Given the description of an element on the screen output the (x, y) to click on. 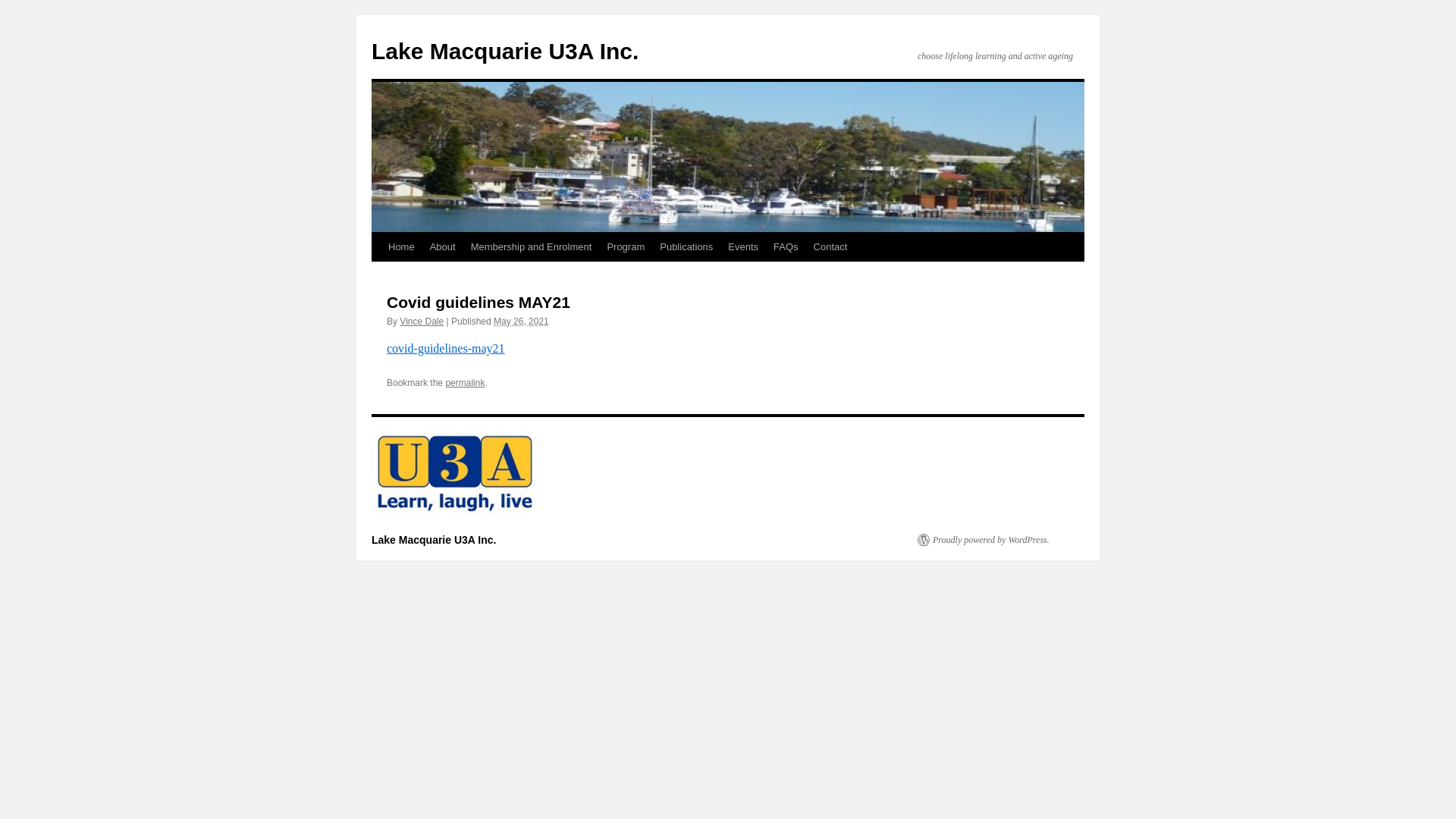
permalink Element type: text (464, 382)
Lake Macquarie U3A Inc. Element type: text (504, 50)
Program Element type: text (625, 246)
Skip to content Element type: text (377, 275)
Lake Macquarie U3A Inc. Element type: text (433, 539)
FAQs Element type: text (785, 246)
Home Element type: text (401, 246)
About Element type: text (442, 246)
Contact Element type: text (830, 246)
Events Element type: text (742, 246)
covid-guidelines-may21 Element type: text (445, 348)
Proudly powered by WordPress. Element type: text (983, 539)
Membership and Enrolment Element type: text (531, 246)
Publications Element type: text (686, 246)
Vince Dale Element type: text (421, 321)
